Given the description of an element on the screen output the (x, y) to click on. 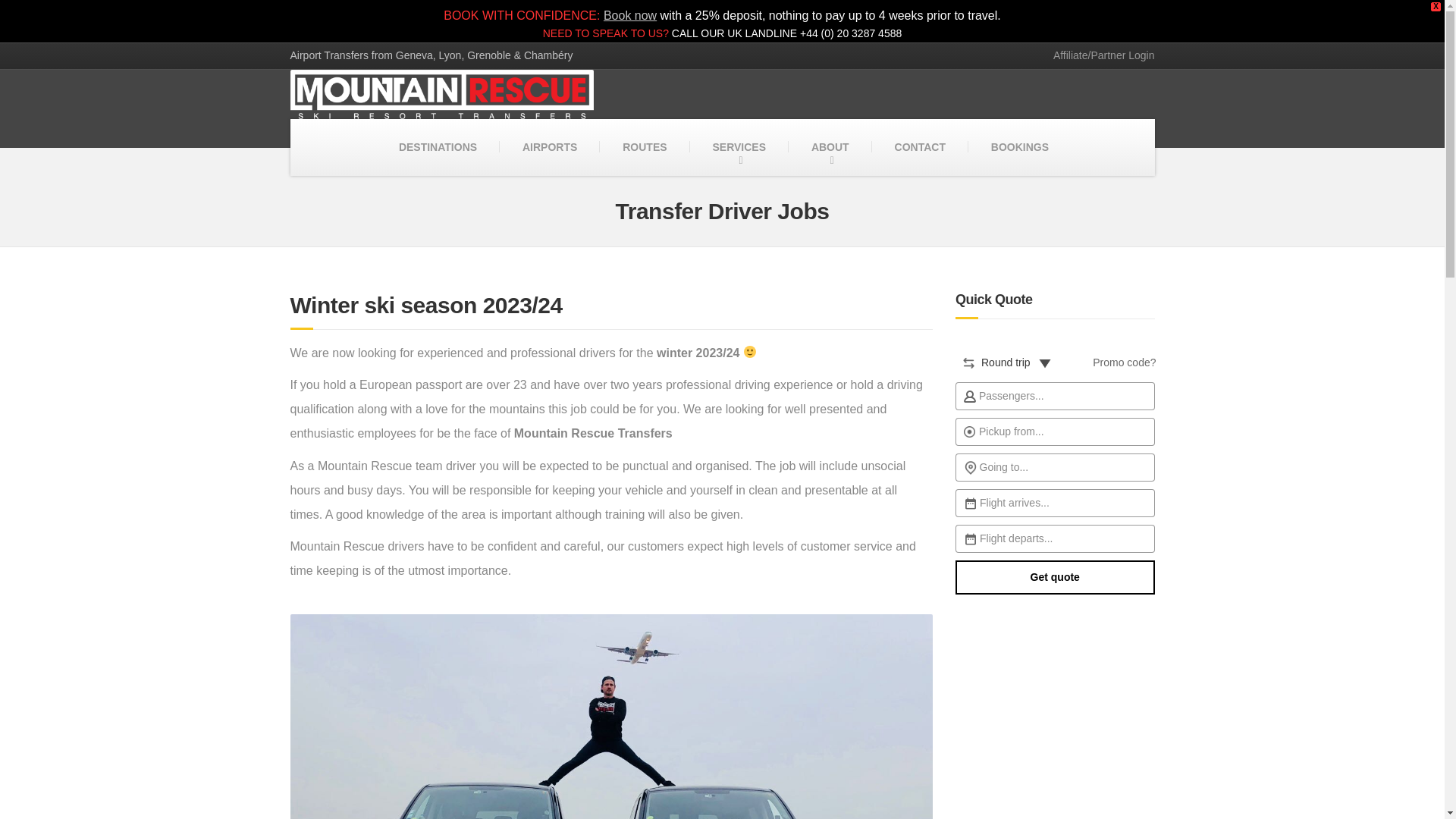
BOOKINGS (1019, 147)
ROUTES (643, 147)
DESTINATIONS (437, 147)
ABOUT (830, 147)
AIRPORTS (549, 147)
Book now (630, 15)
SERVICES (738, 147)
click here (1098, 55)
CONTACT (920, 147)
